Given the description of an element on the screen output the (x, y) to click on. 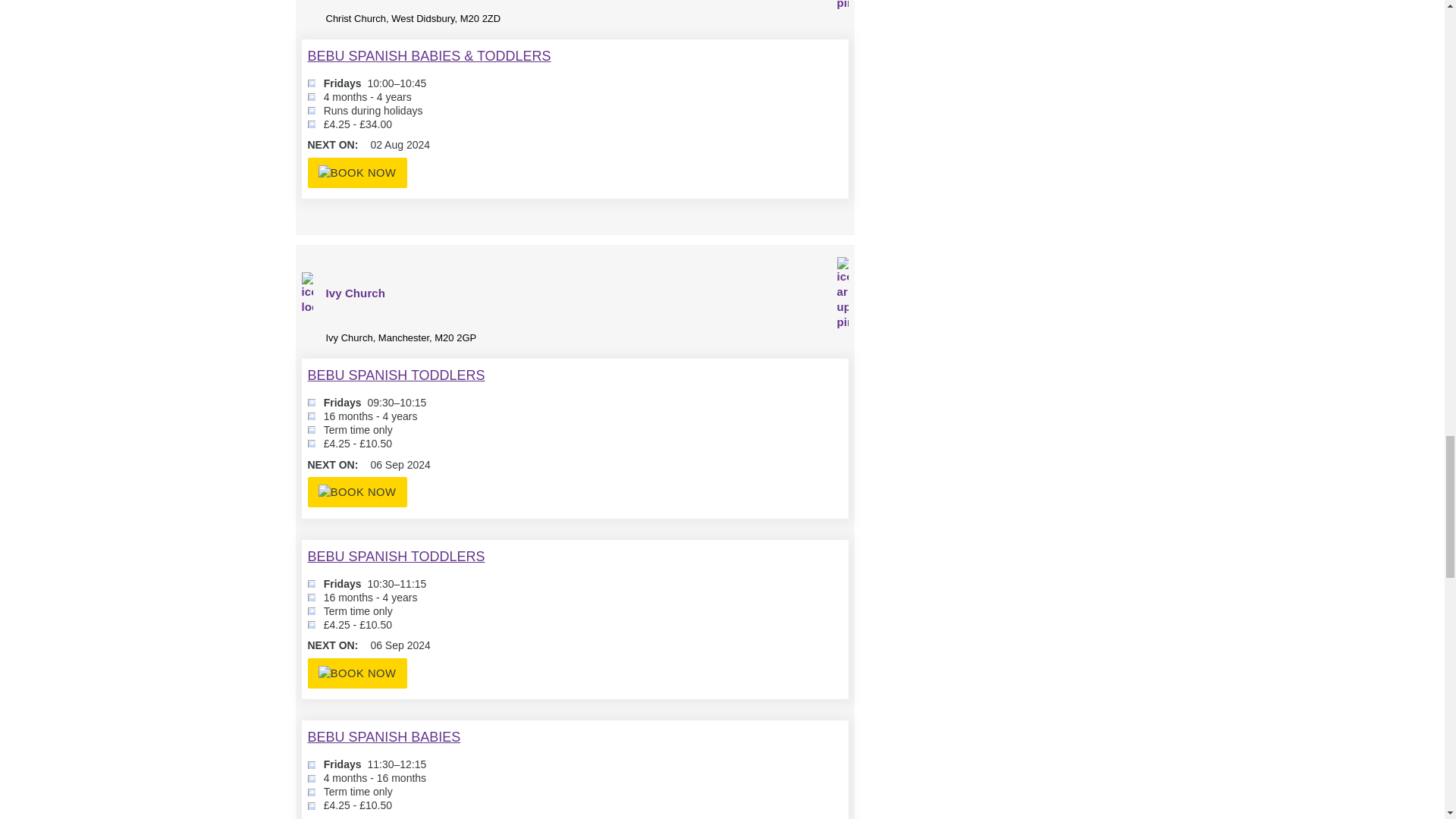
BOOK NOW (357, 673)
BOOK NOW (357, 491)
BOOK NOW (357, 173)
BEBU SPANISH BABIES (384, 736)
BEBU SPANISH TODDLERS (395, 375)
BEBU SPANISH TODDLERS (395, 556)
